Given the description of an element on the screen output the (x, y) to click on. 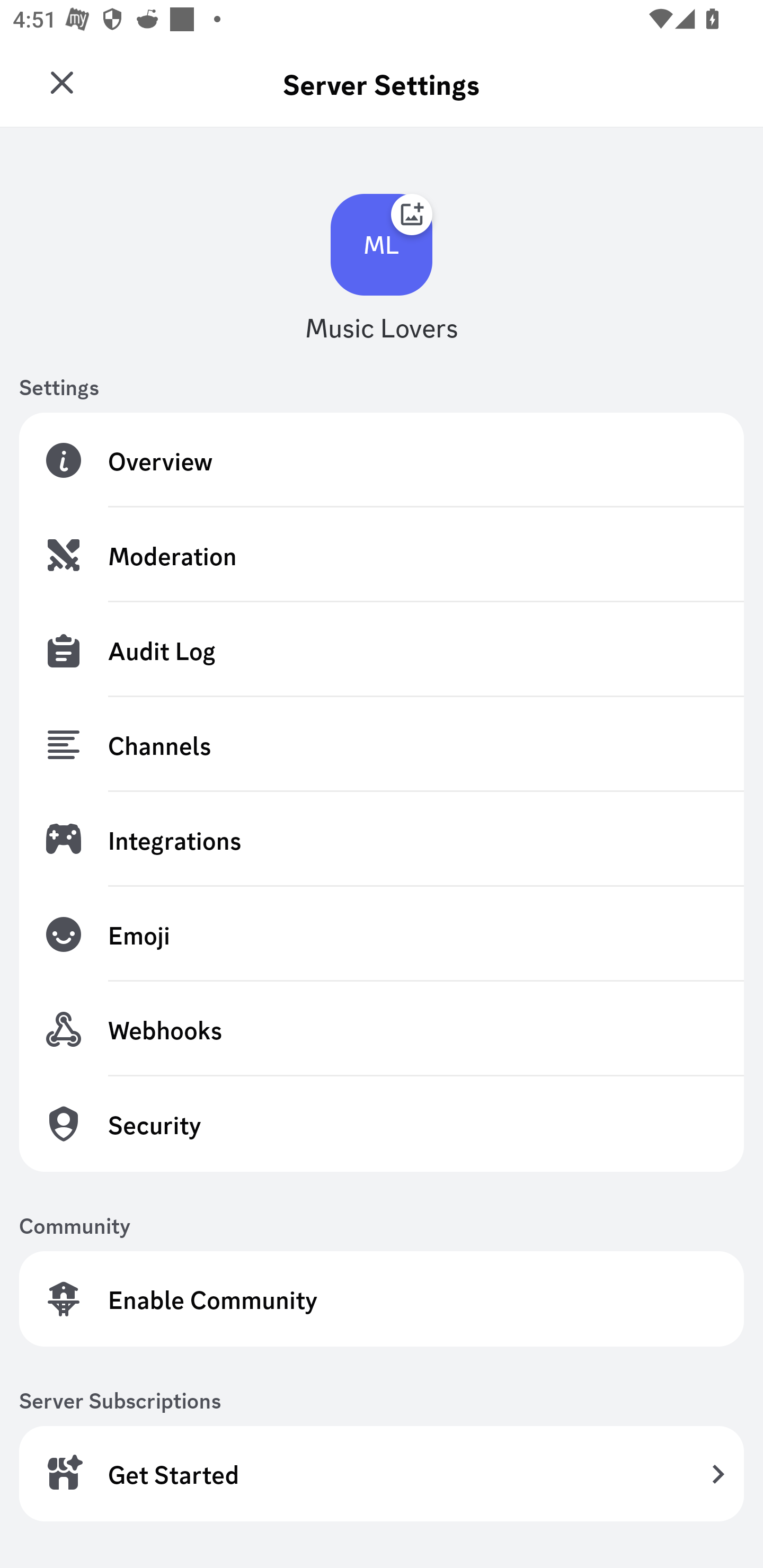
  Friends F (66, 75)
Upload Image ML (381, 245)
Events 1 Event (413, 336)
Overview (381, 460)
Moderation (381, 555)
Audit Log (381, 649)
Channels (381, 744)
Integrations (381, 839)
Emoji (381, 934)
Webhooks (381, 1029)
Security (381, 1123)
Enable Community (381, 1298)
Get Started (381, 1472)
